Given the description of an element on the screen output the (x, y) to click on. 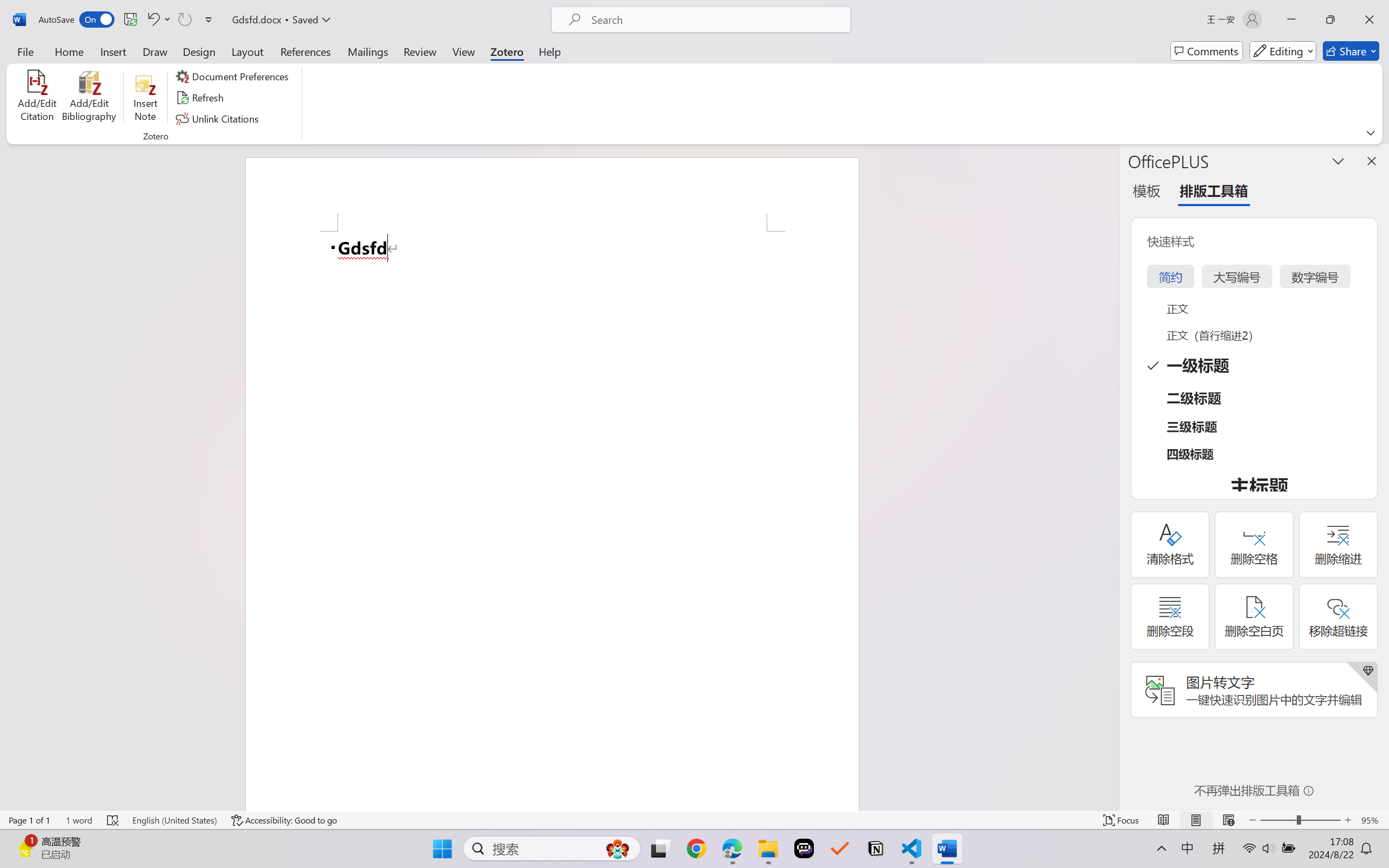
Zoom 95% (1372, 819)
Page 1 content (552, 520)
Add/Edit Citation (37, 97)
